Given the description of an element on the screen output the (x, y) to click on. 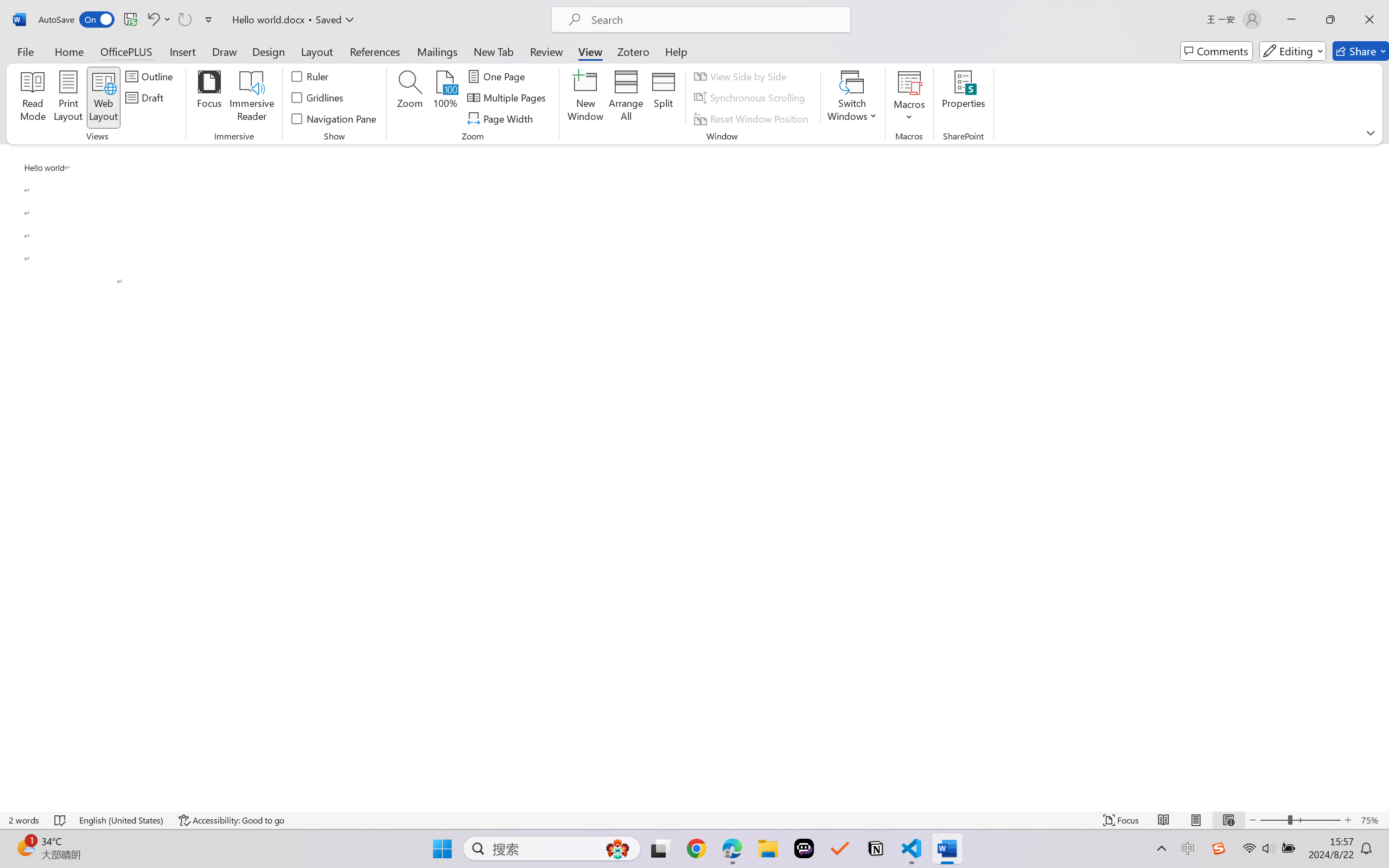
Outline (150, 75)
